Given the description of an element on the screen output the (x, y) to click on. 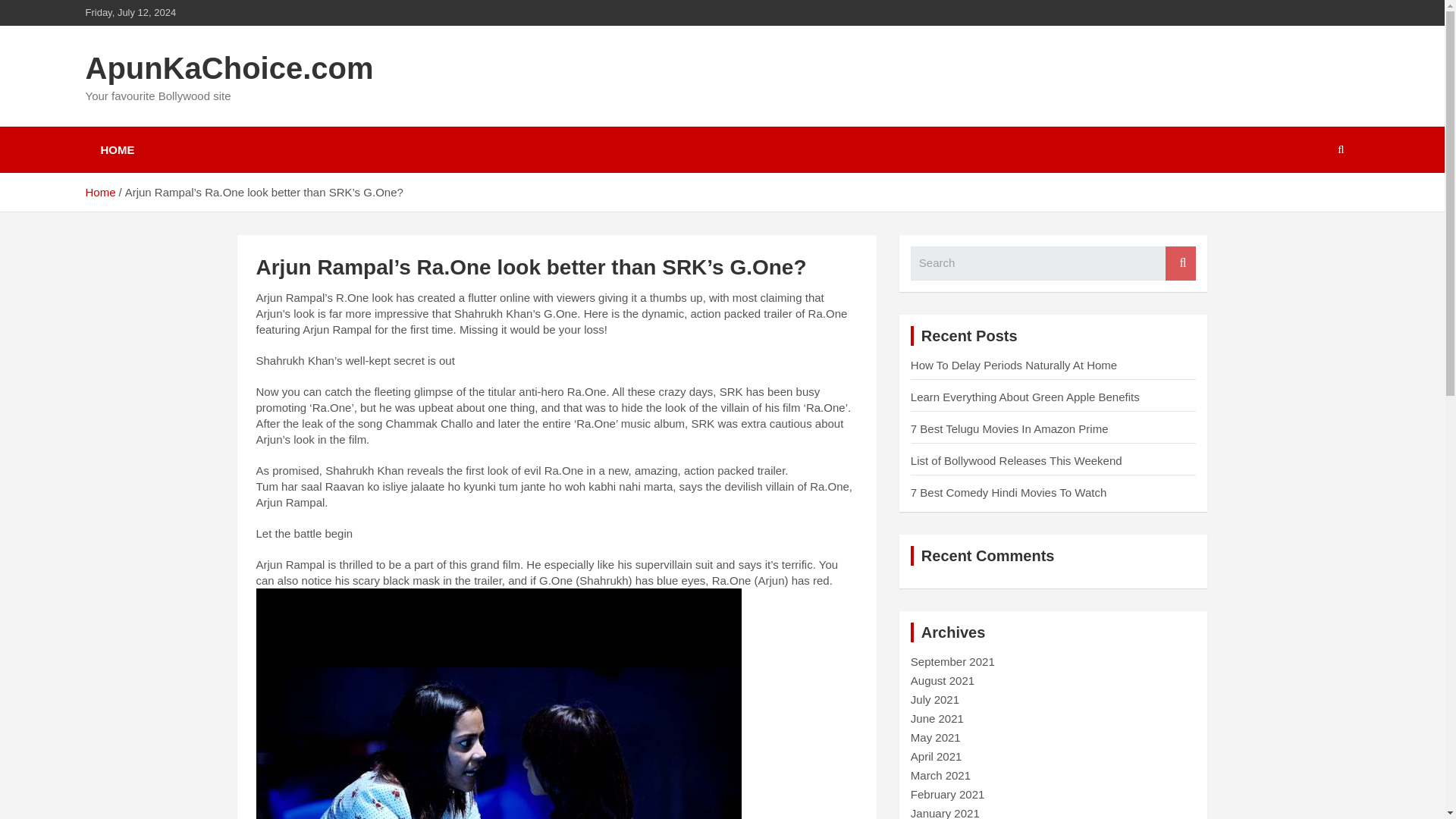
ApunKaChoice.com (228, 68)
Learn Everything About Green Apple Benefits (1025, 396)
February 2021 (948, 793)
August 2021 (942, 680)
7 Best Comedy Hindi Movies To Watch (1008, 492)
List of Bollywood Releases This Weekend (1016, 460)
Home (99, 192)
7 Best Telugu Movies In Amazon Prime (1009, 428)
How To Delay Periods Naturally At Home (1013, 364)
Search (1180, 263)
September 2021 (952, 661)
March 2021 (941, 775)
April 2021 (936, 756)
January 2021 (945, 812)
June 2021 (937, 717)
